Given the description of an element on the screen output the (x, y) to click on. 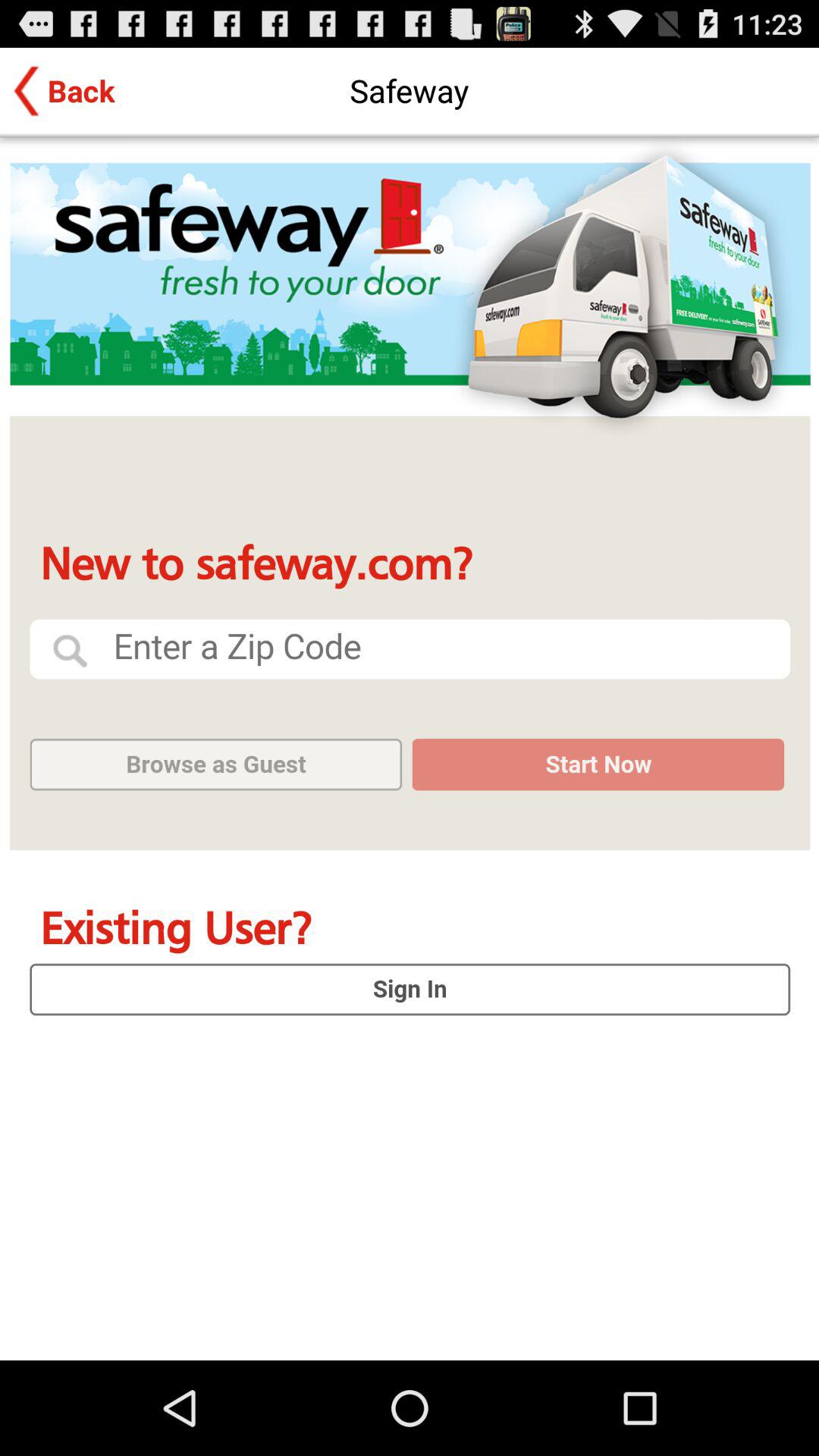
log in (409, 748)
